Given the description of an element on the screen output the (x, y) to click on. 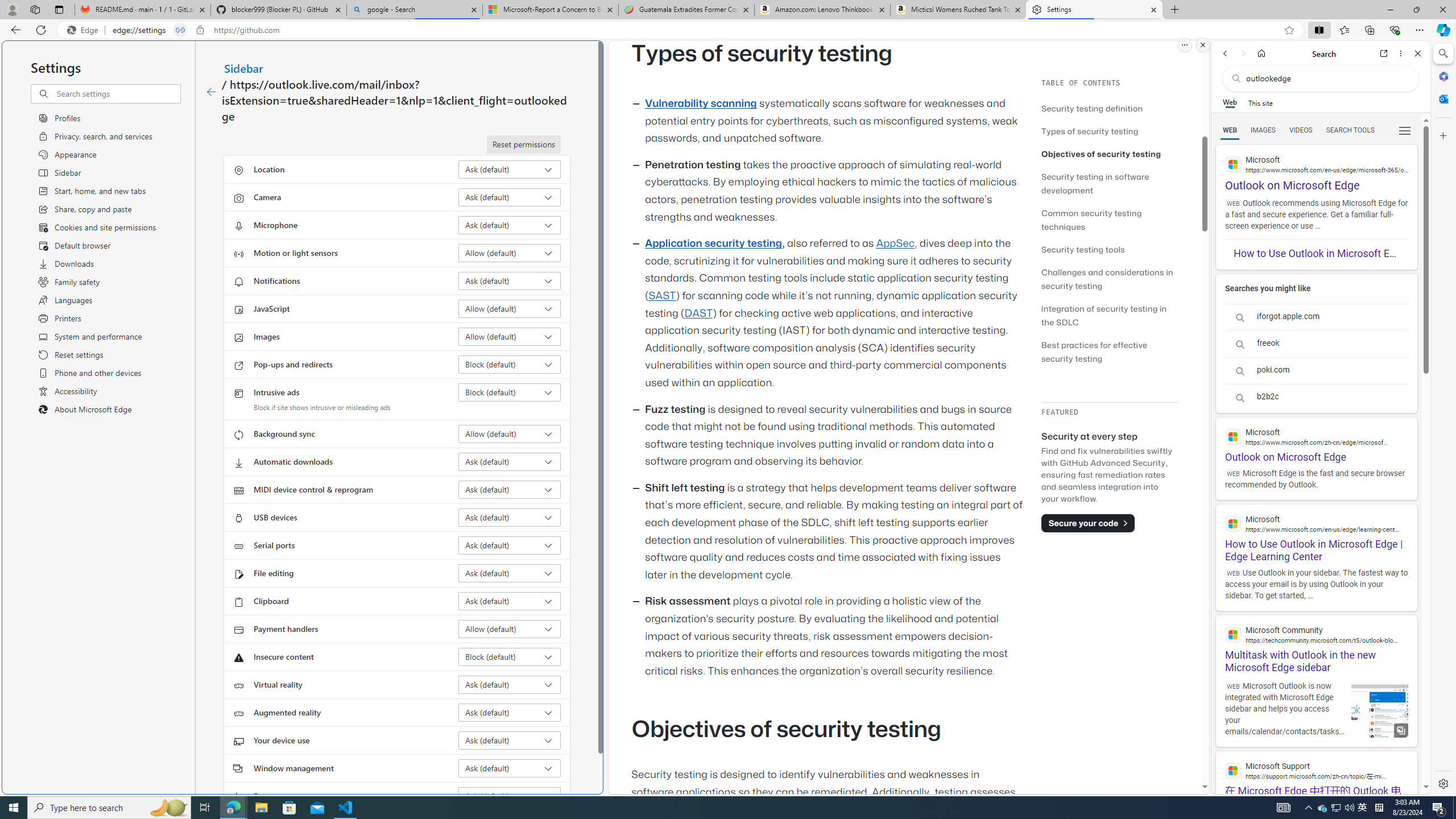
iforgot.apple.com (1315, 317)
Best practices for effective security testing (1109, 351)
Best practices for effective security testing (1094, 351)
Motion or light sensors Allow (default) (509, 253)
Security testing in software development (1094, 182)
Sidebar (243, 67)
freeok (1315, 343)
b2b2c (1315, 397)
Objectives of security testing (1109, 153)
Security testing definition (1109, 108)
poki.com (1315, 370)
google - Search (414, 9)
